Given the description of an element on the screen output the (x, y) to click on. 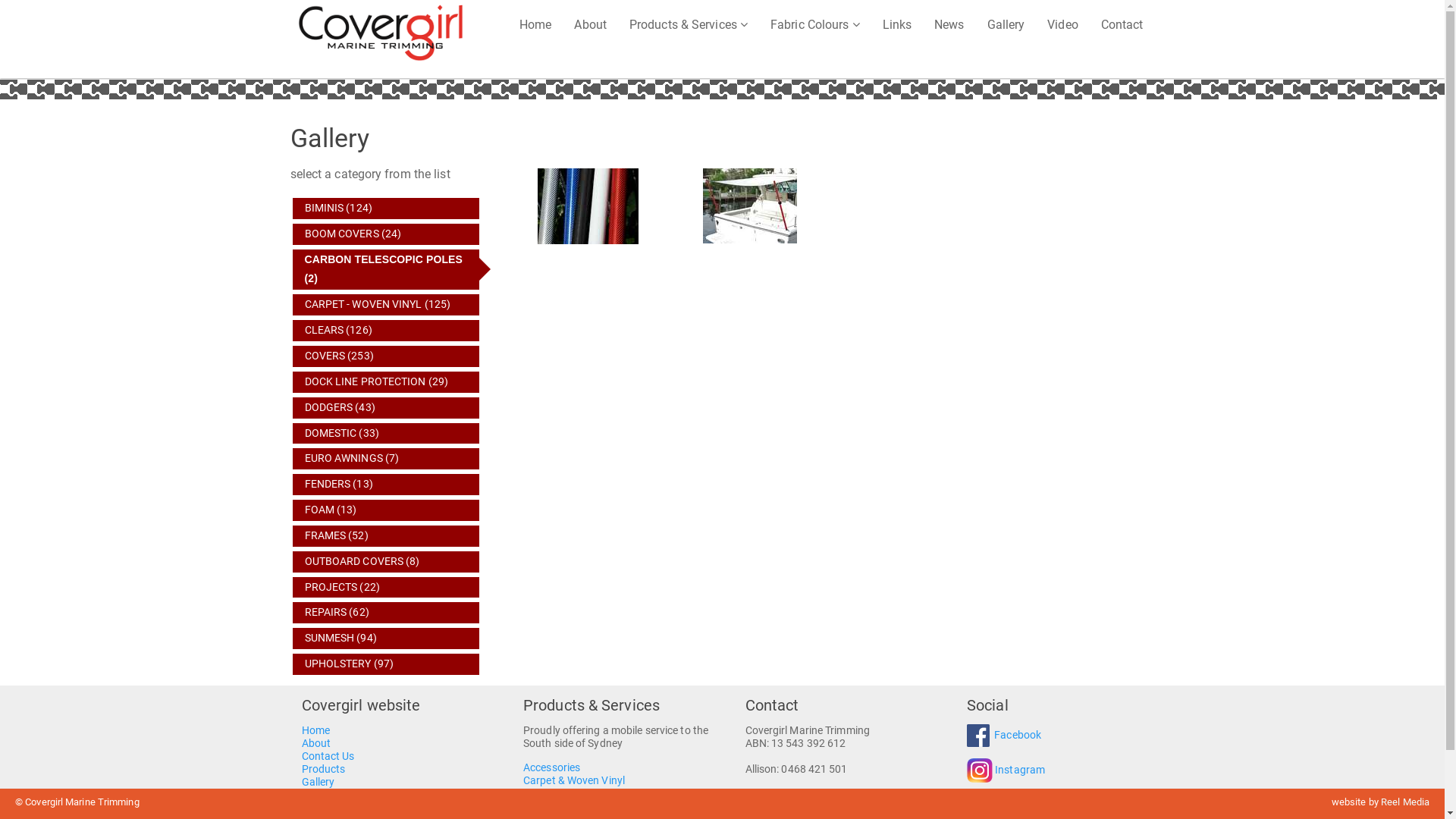
Home Element type: text (535, 24)
Contact Element type: text (1121, 24)
Links Element type: text (314, 794)
COVERS (253) Element type: text (386, 356)
Fabric Colours Element type: text (815, 24)
Home Element type: text (315, 730)
OUTBOARD COVERS (8) Element type: text (386, 561)
Products Element type: text (323, 768)
DOCK LINE PROTECTION (29) Element type: text (386, 381)
Gallery Element type: text (318, 781)
CARBON TELESCOPIC POLES (2) Element type: text (386, 269)
SUNMESH (94) Element type: text (386, 638)
Instagram Element type: text (1019, 769)
Facebook Element type: text (1017, 734)
PROJECTS (22) Element type: text (386, 587)
FENDERS (13) Element type: text (386, 484)
Video Element type: text (1062, 24)
UPHOLSTERY (97) Element type: text (386, 663)
FRAMES (52) Element type: text (386, 535)
Links Element type: text (897, 24)
Products & Services Element type: text (688, 24)
CLEARS (126) Element type: text (386, 330)
CARPET - WOVEN VINYL (125) Element type: text (386, 304)
Foam & Bedding Element type: text (562, 793)
Reel Media Element type: text (1404, 801)
News Element type: text (948, 24)
Contact Us Element type: text (327, 755)
Accessories Element type: text (551, 767)
About Element type: text (316, 743)
Carpet & Woven Vinyl Element type: text (573, 780)
FOAM (13) Element type: text (386, 509)
Gallery Element type: text (1005, 24)
DODGERS (43) Element type: text (386, 407)
EURO AWNINGS (7) Element type: text (386, 458)
REPAIRS (62) Element type: text (386, 612)
BIMINIS (124) Element type: text (386, 208)
Outboard covers Element type: text (563, 806)
BOOM COVERS (24) Element type: text (386, 233)
About Element type: text (590, 24)
DOMESTIC (33) Element type: text (386, 433)
